Given the description of an element on the screen output the (x, y) to click on. 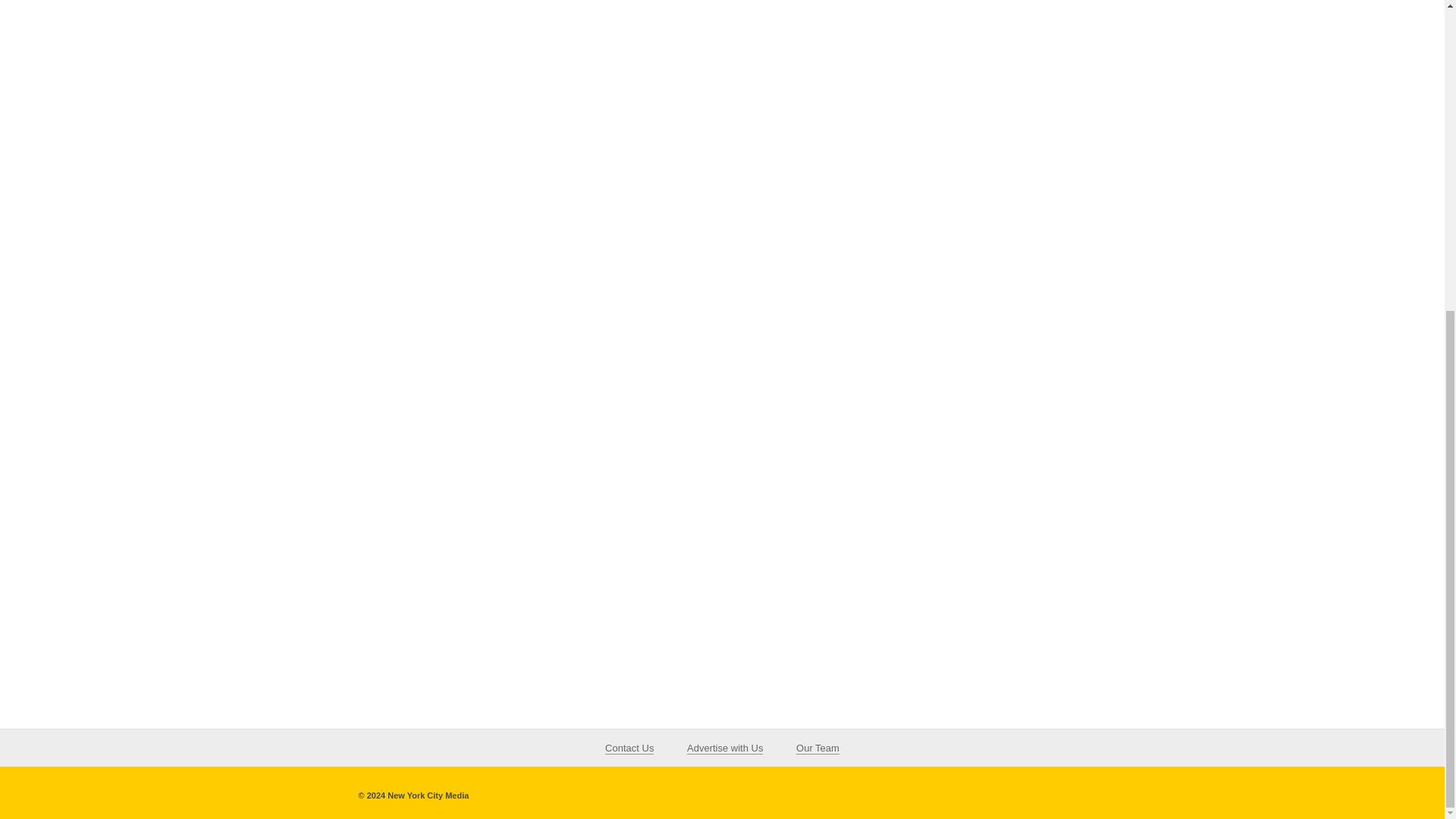
Our Team (818, 748)
Advertise with Us (724, 748)
Contact Us (629, 748)
